Given the description of an element on the screen output the (x, y) to click on. 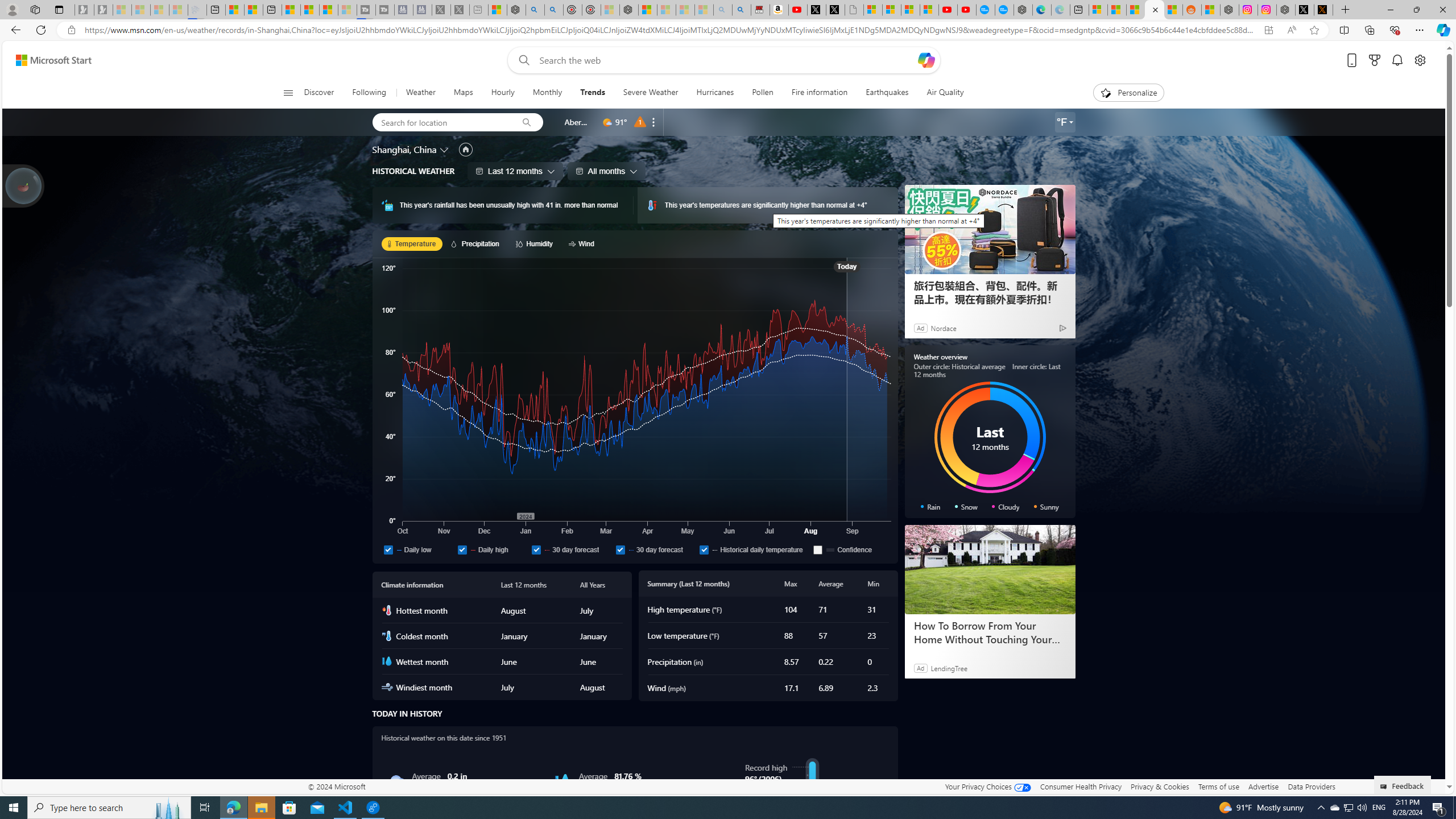
Hurricanes (715, 92)
Maps (462, 92)
Feedback (1402, 784)
Hurricanes (714, 92)
Microsoft rewards (1374, 60)
Collections (1369, 29)
All months (606, 170)
Remove location (653, 122)
Add this page to favorites (Ctrl+D) (1314, 29)
Data Providers (1311, 786)
New tab - Sleeping (478, 9)
Close tab (1155, 9)
Terms of use (1218, 786)
